Given the description of an element on the screen output the (x, y) to click on. 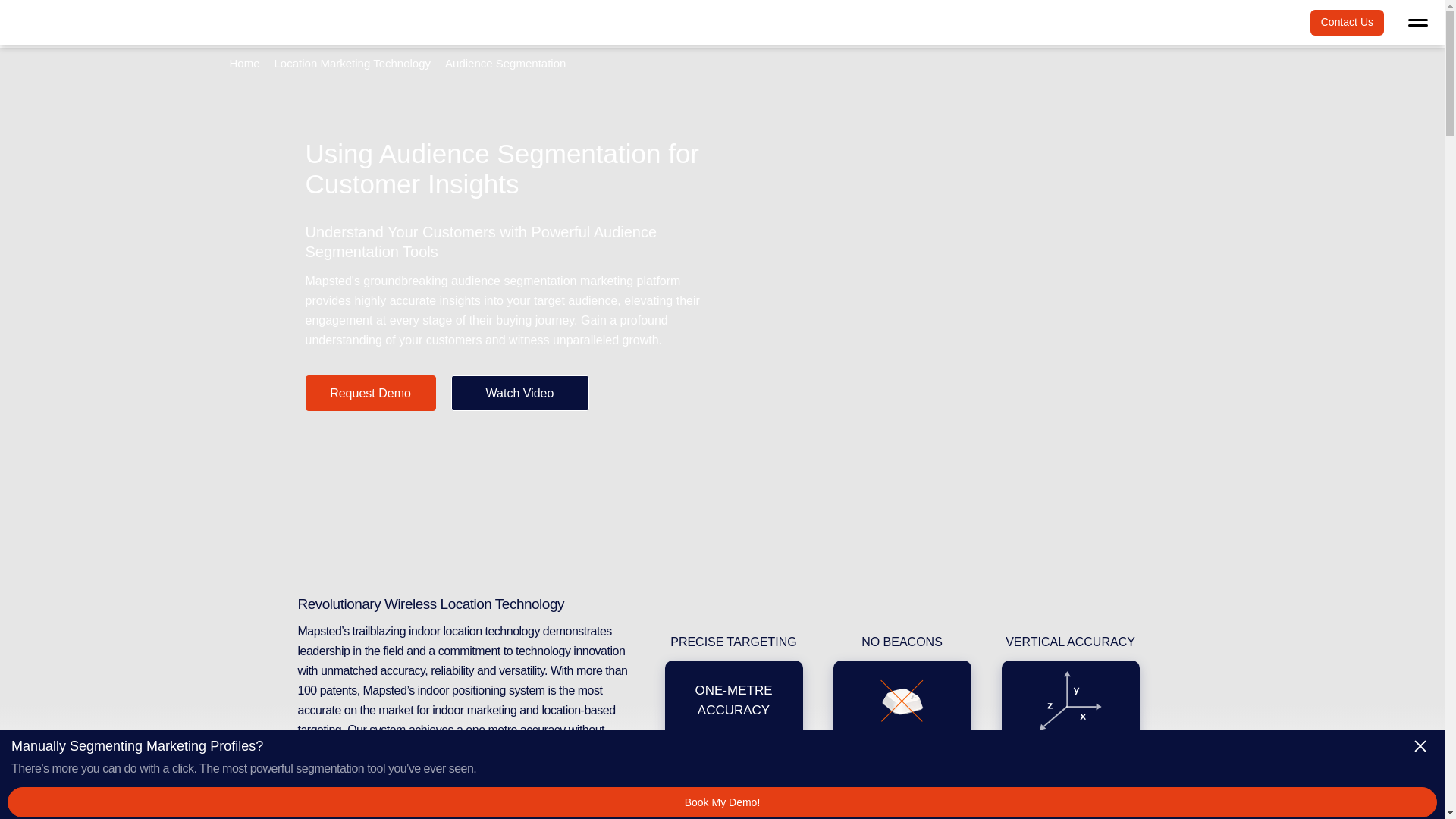
Home (243, 62)
Request Demo (369, 392)
Contact Us (1347, 22)
Location Marketing Technology (352, 62)
